Given the description of an element on the screen output the (x, y) to click on. 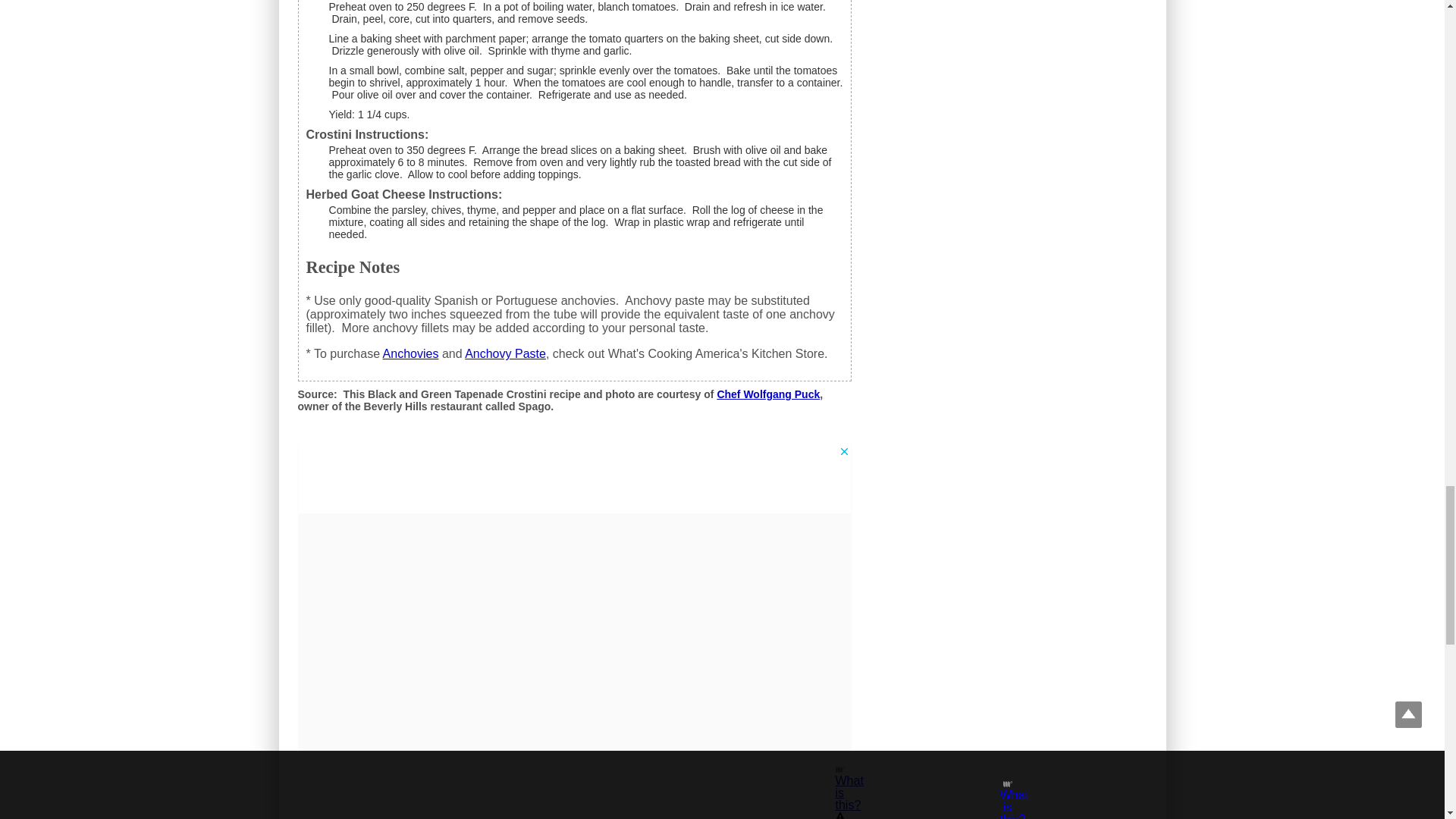
3rd party ad content (574, 479)
